Given the description of an element on the screen output the (x, y) to click on. 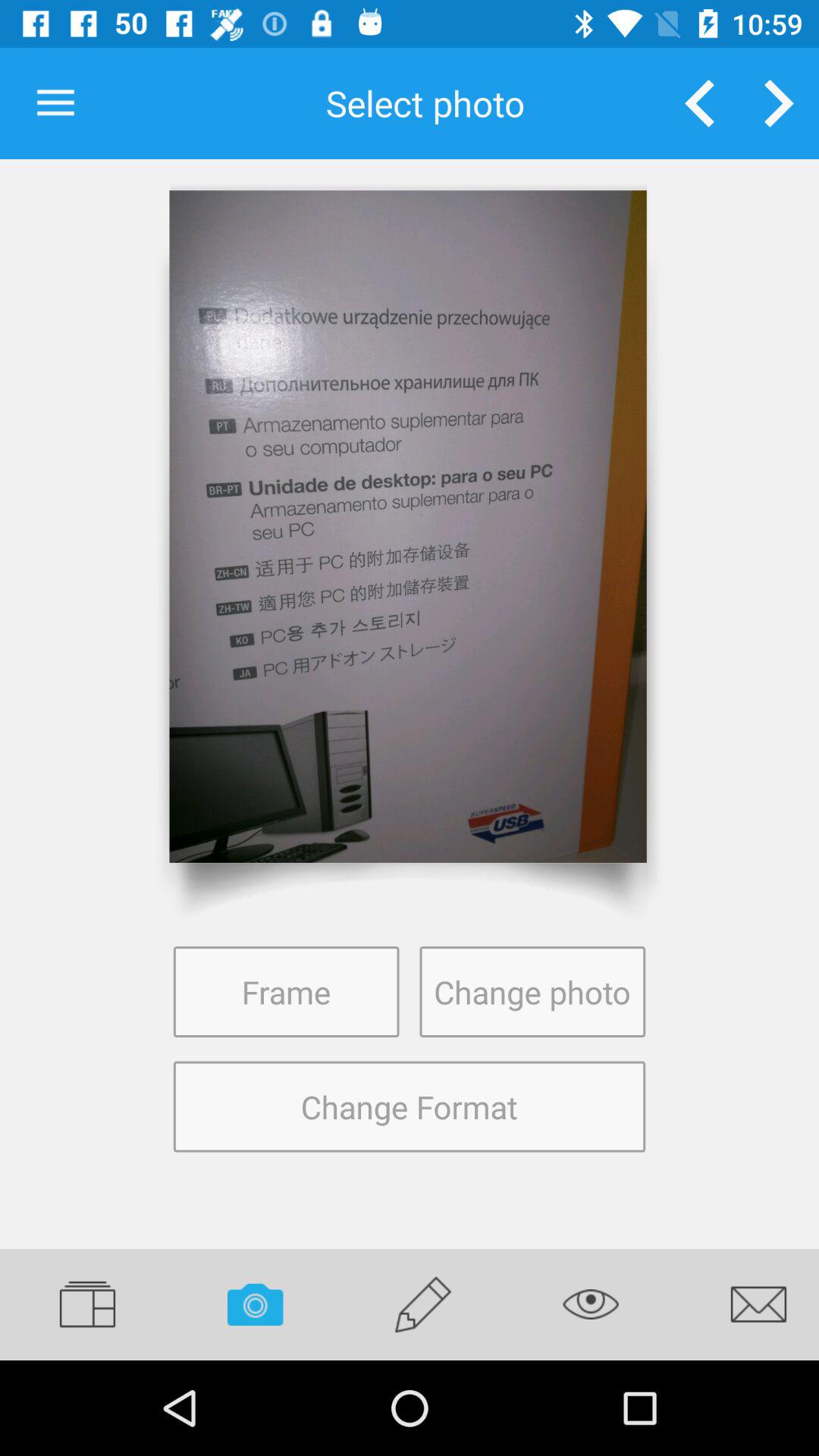
scroll through photos (779, 103)
